Given the description of an element on the screen output the (x, y) to click on. 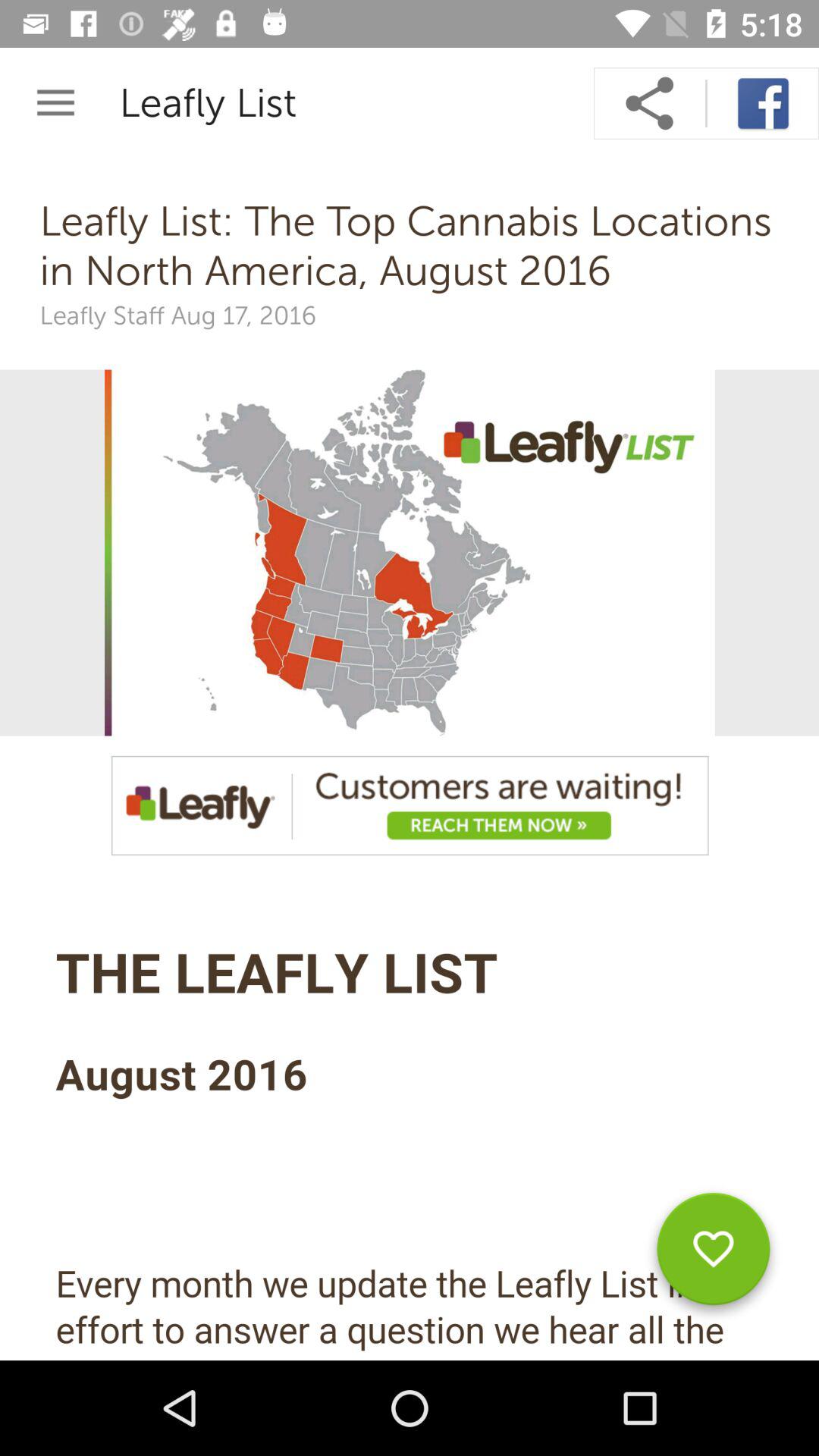
advertisement banner (409, 805)
